Given the description of an element on the screen output the (x, y) to click on. 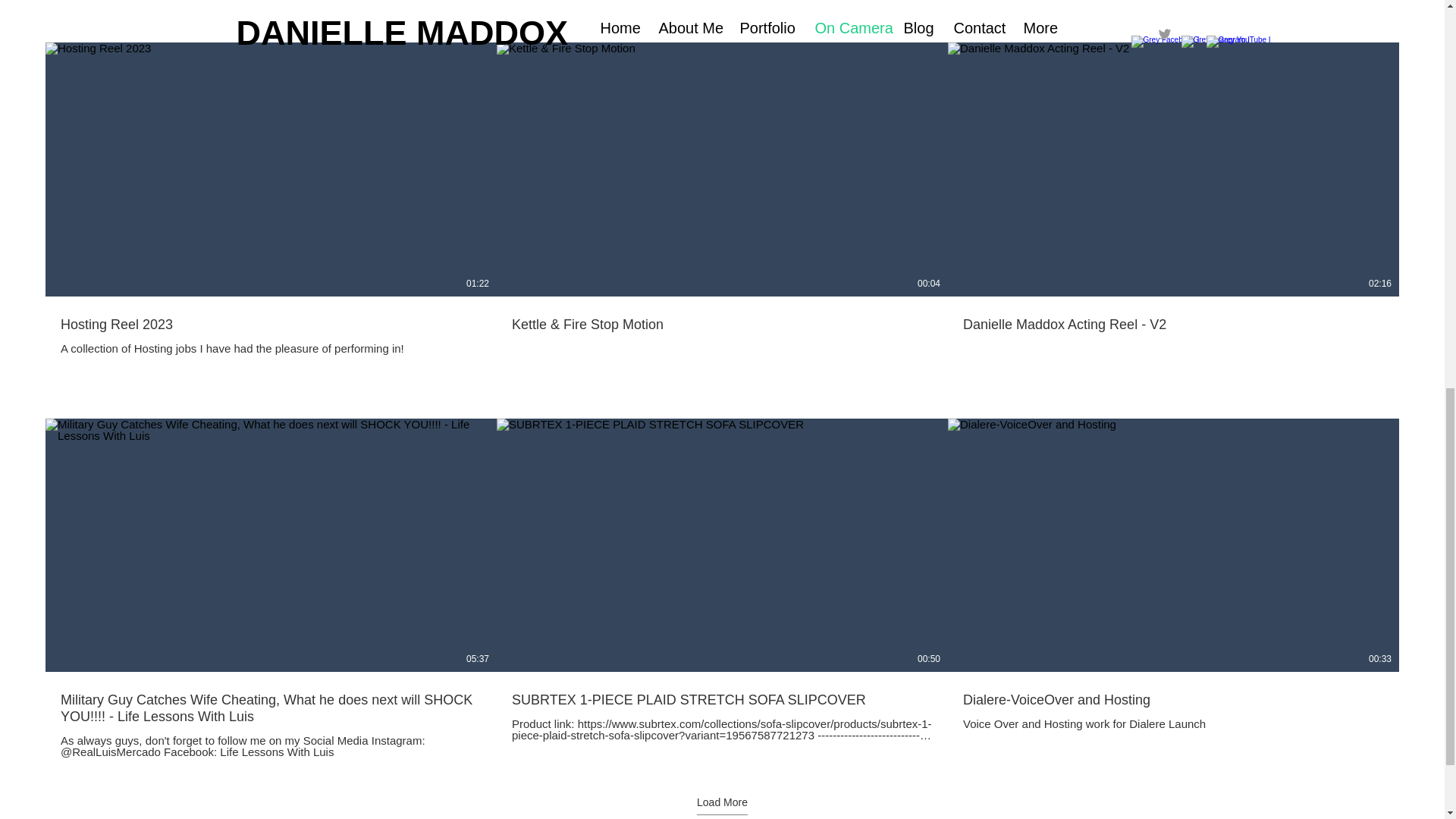
SUBRTEX 1-PIECE PLAID STRETCH SOFA SLIPCOVER (722, 700)
Load More (722, 805)
Danielle Maddox Acting Reel - V2 (1173, 324)
Hosting Reel 2023 (271, 324)
Dialere-VoiceOver and Hosting (1173, 700)
Danielle Maddox Acting Reel - V2 (1173, 315)
